Given the description of an element on the screen output the (x, y) to click on. 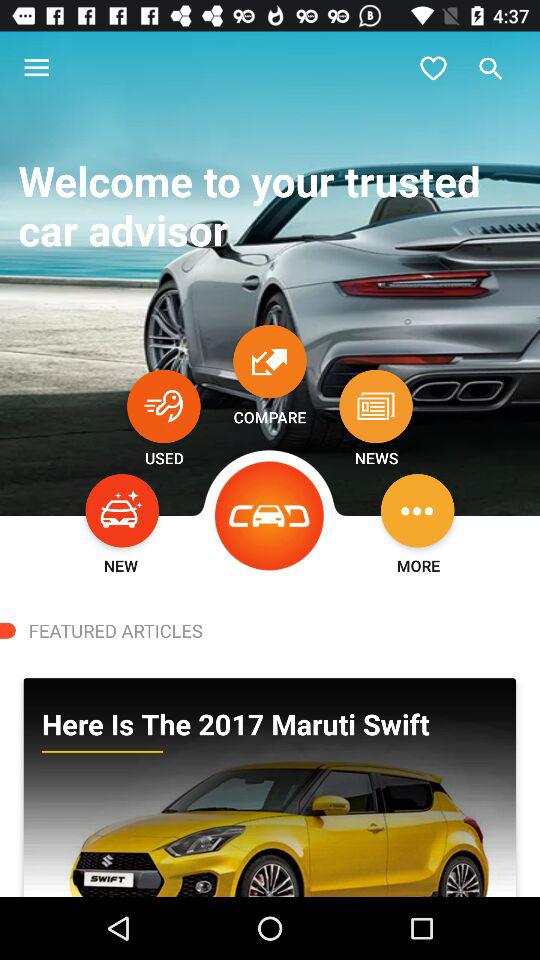
turn on icon below the used item (121, 510)
